Given the description of an element on the screen output the (x, y) to click on. 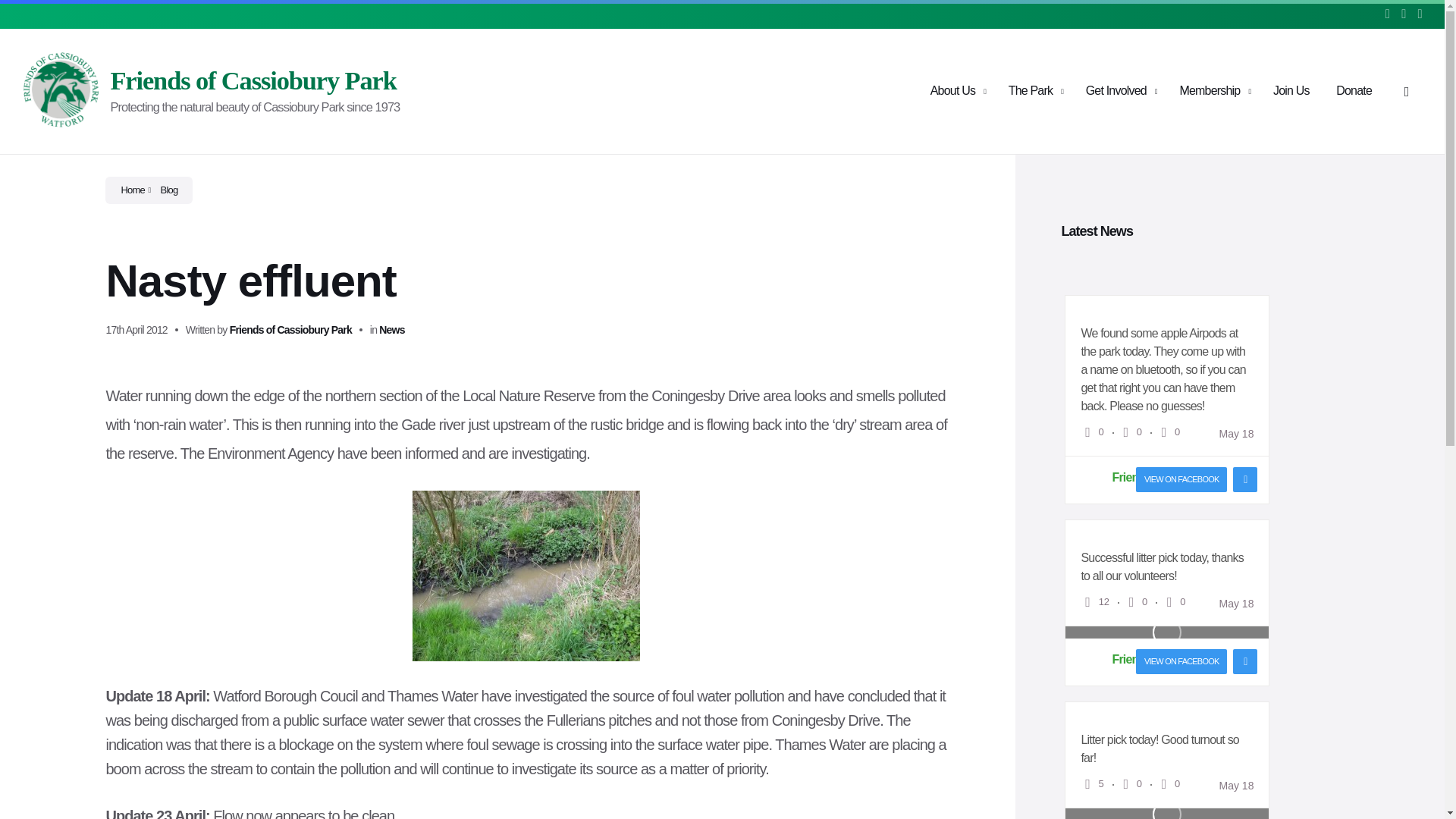
The Park (1030, 90)
Nasty effluent flowing into the Gade 11 Apr 2012 (526, 575)
Expand search (1406, 91)
Social Media Links (1398, 14)
Friends of Cassiobury Park (253, 80)
Membership (1209, 90)
Get Involved (1116, 90)
About Us (952, 90)
